Given the description of an element on the screen output the (x, y) to click on. 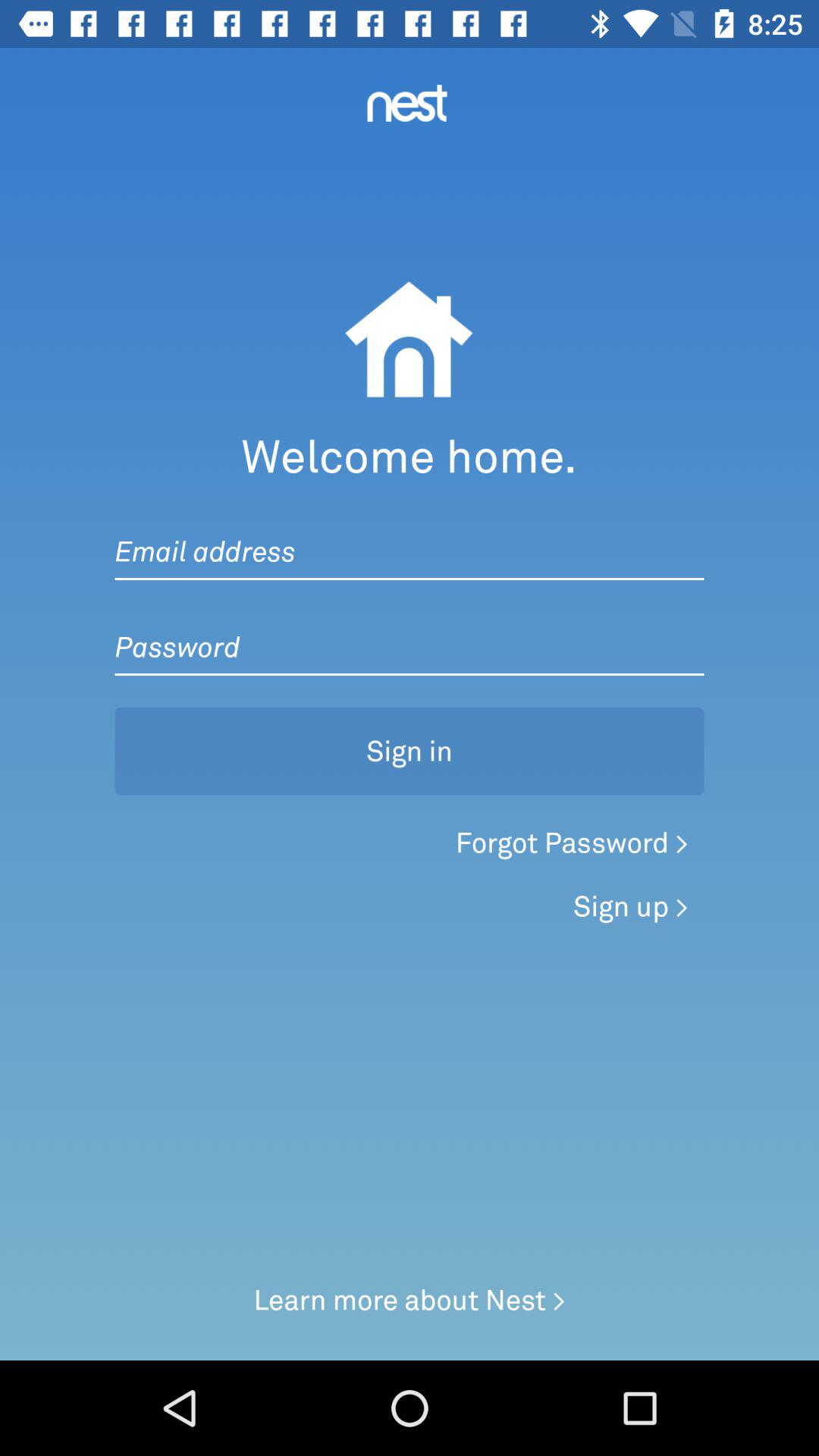
click the item below sign in (571, 842)
